Given the description of an element on the screen output the (x, y) to click on. 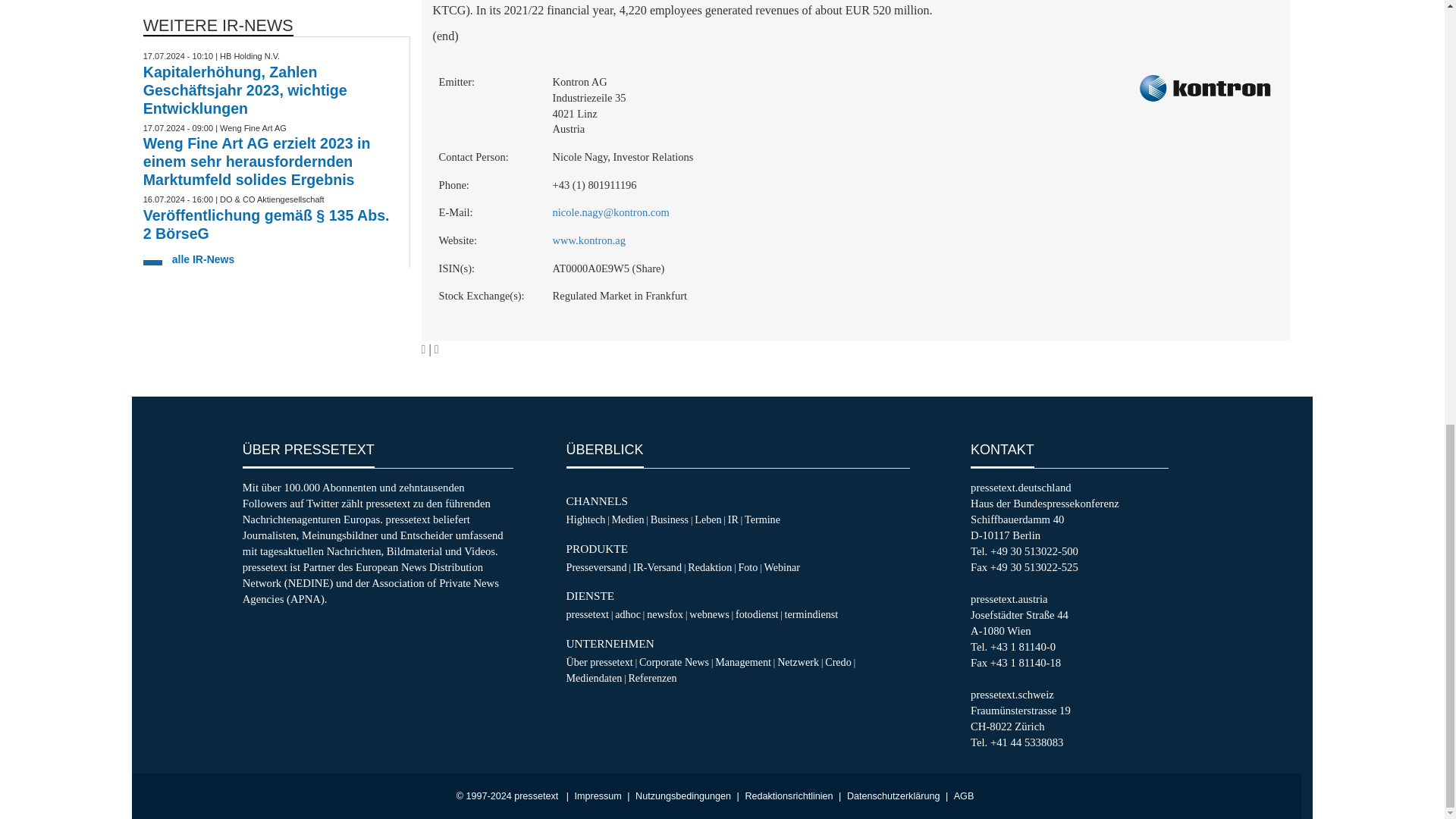
Kontron AG (1203, 88)
